Given the description of an element on the screen output the (x, y) to click on. 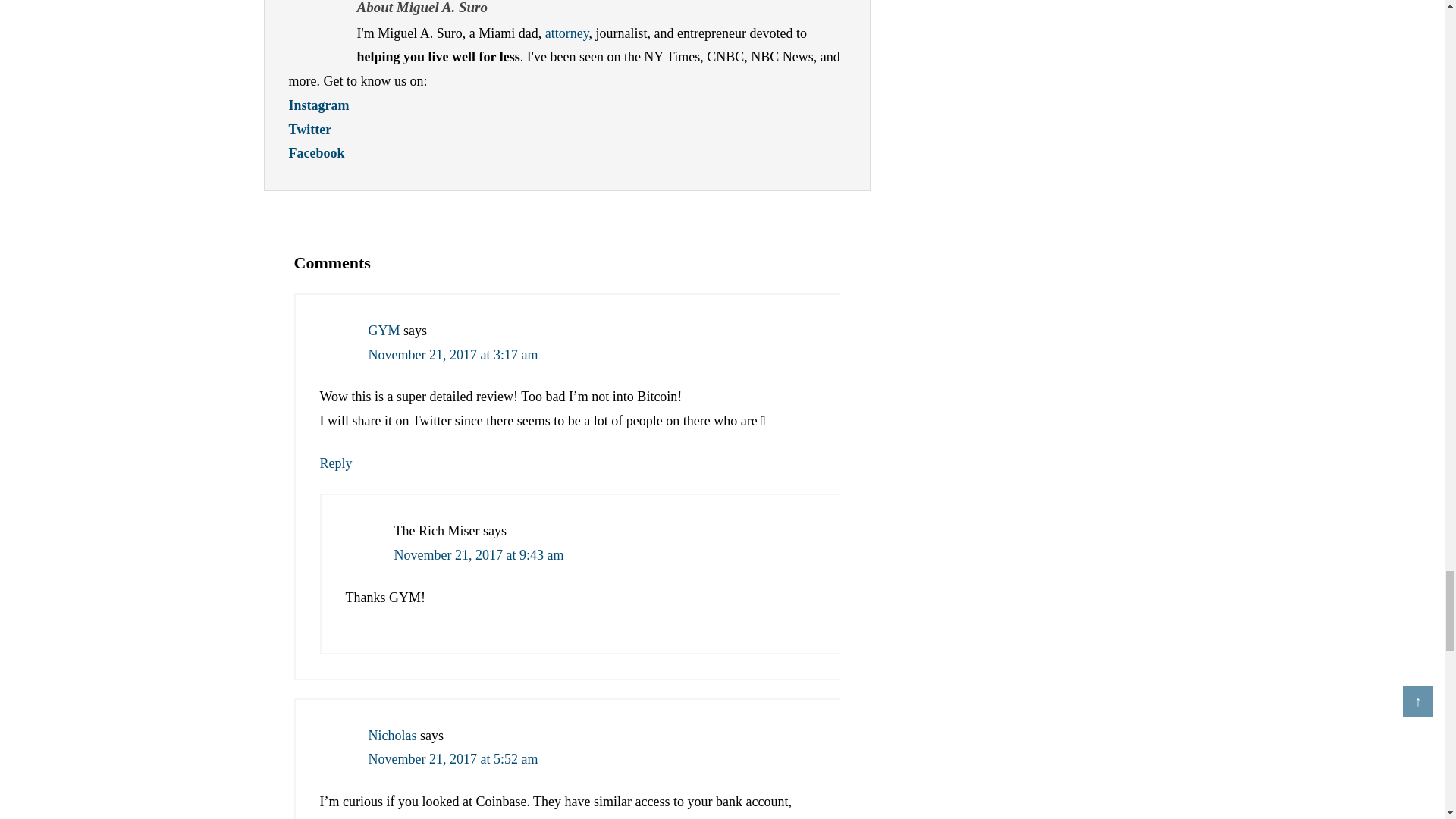
Twitter (309, 129)
Facebook (315, 152)
GYM (384, 330)
Instagram (318, 105)
attorney (566, 32)
